Given the description of an element on the screen output the (x, y) to click on. 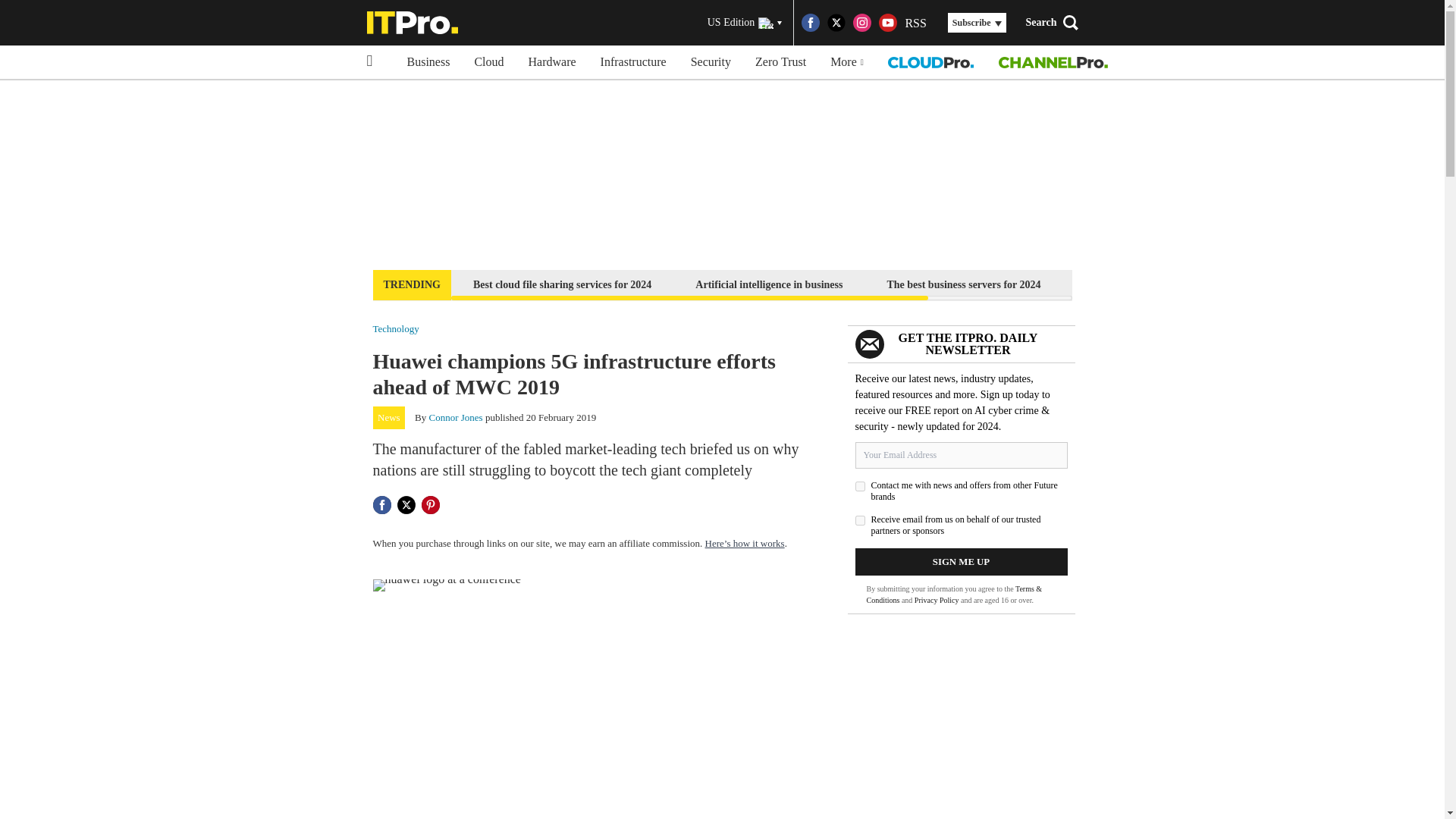
on (860, 520)
Technology (395, 327)
News (389, 417)
Artificial intelligence in business (768, 284)
Security (710, 61)
on (860, 486)
Subscribe to the ITPro newsletter (1161, 284)
US Edition (745, 22)
Zero Trust (780, 61)
Infrastructure (633, 61)
